Given the description of an element on the screen output the (x, y) to click on. 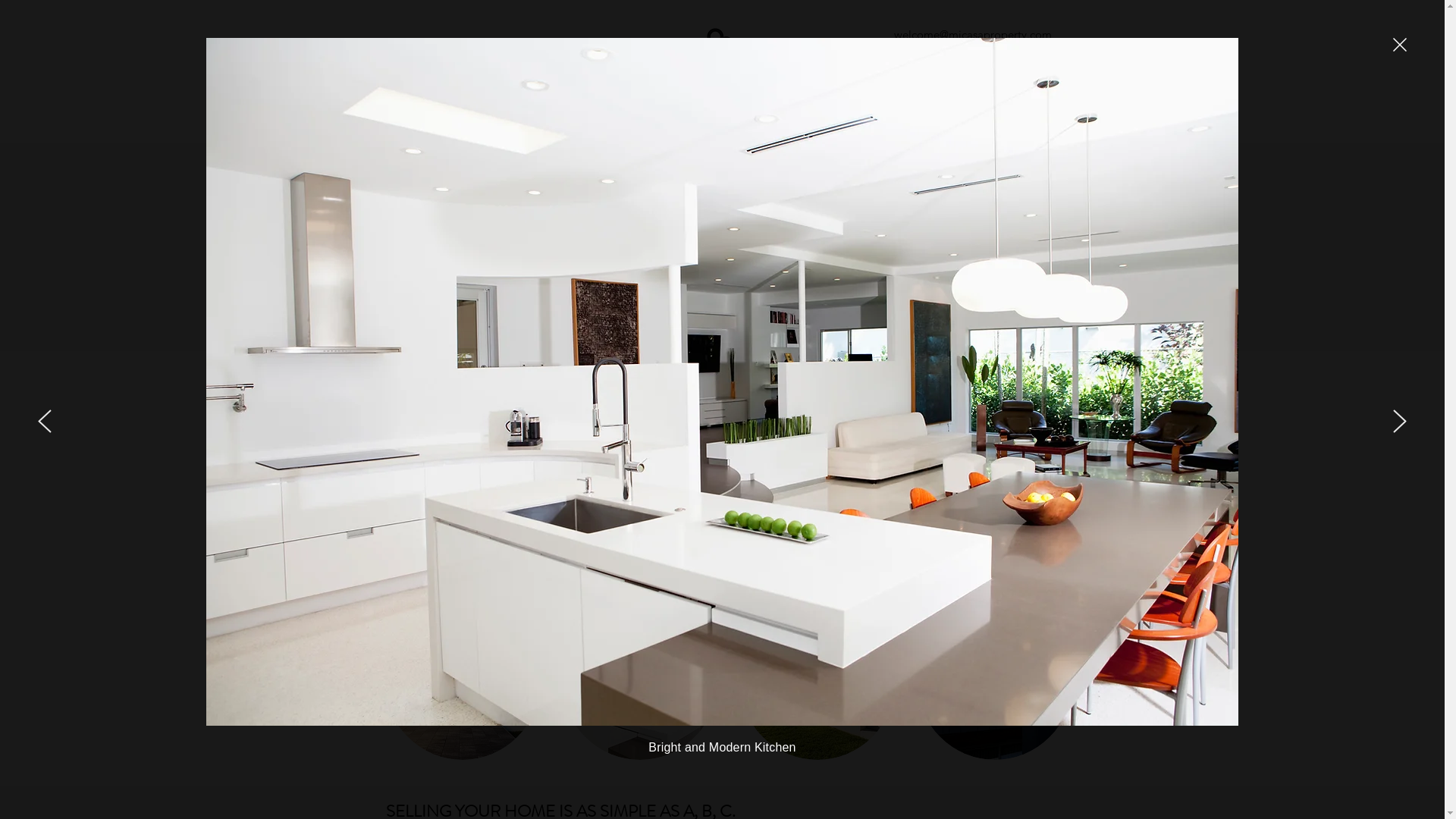
welcome@micasaproperty.com Element type: text (972, 34)
